Given the description of an element on the screen output the (x, y) to click on. 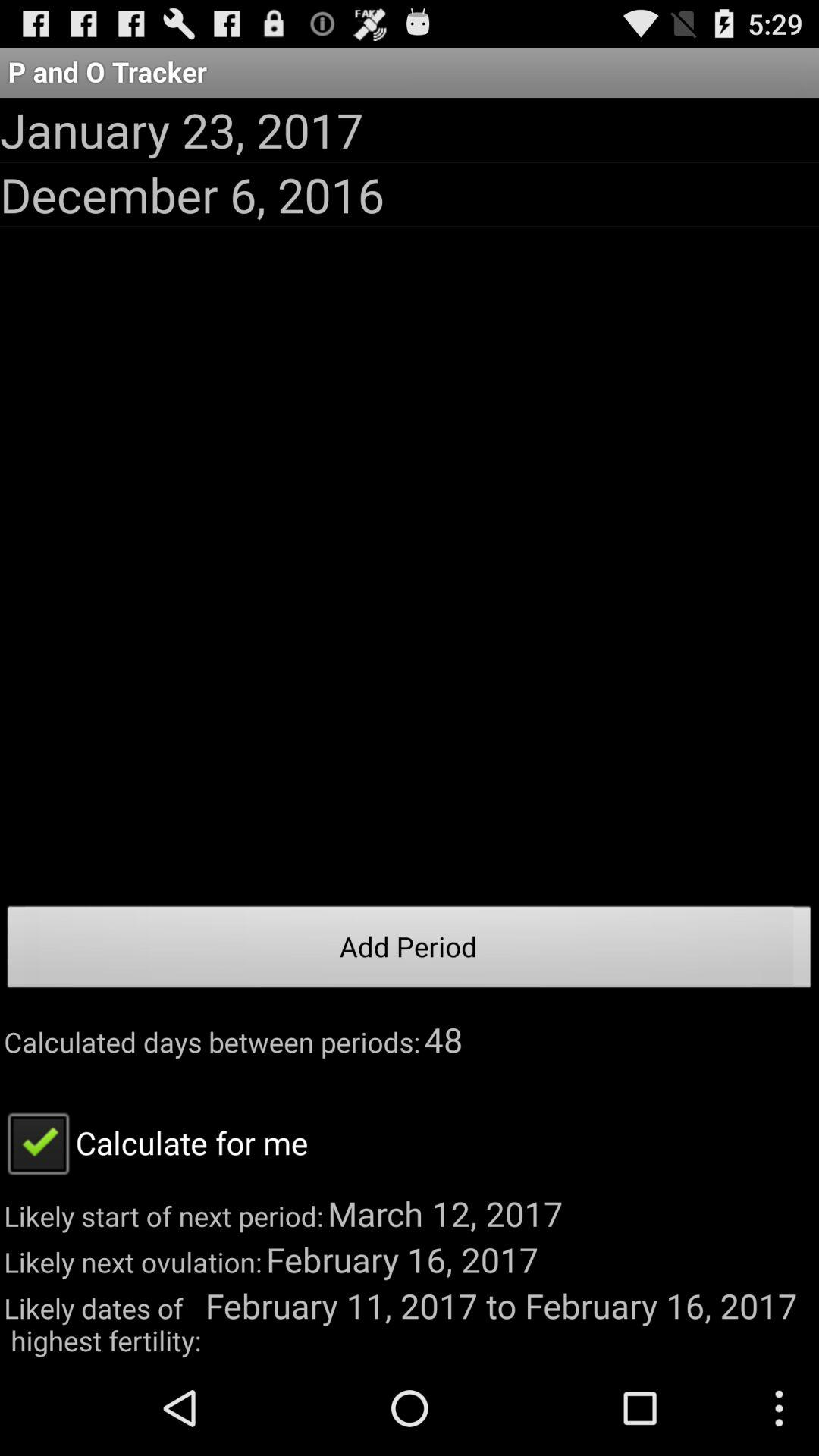
turn off the january 23, 2017 item (181, 129)
